Given the description of an element on the screen output the (x, y) to click on. 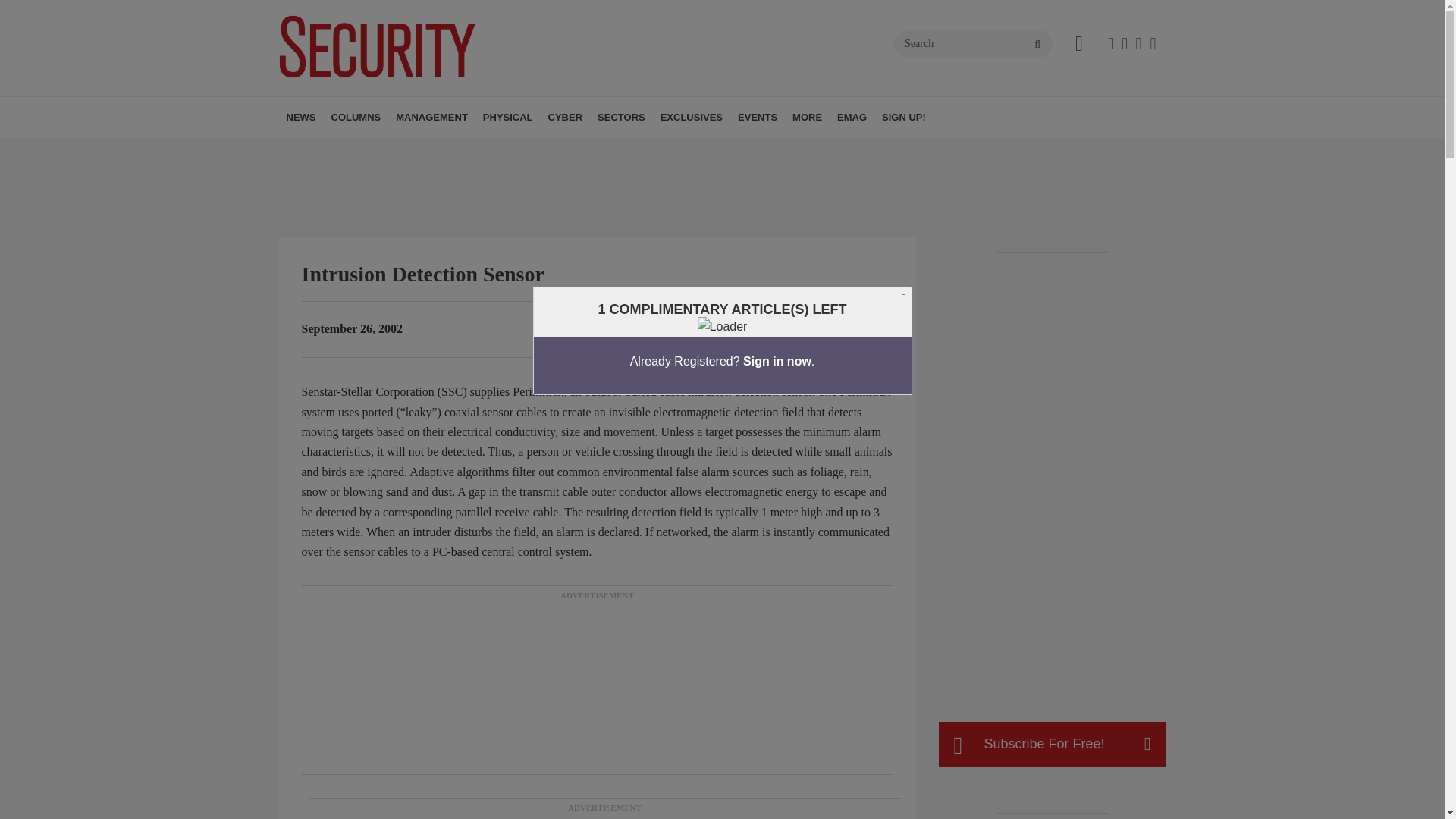
CAREER INTELLIGENCE (436, 150)
LEADERSHIP MANAGEMENT (483, 150)
SECURITY NEWSWIRE (373, 150)
ACCESS MANAGEMENT (570, 150)
CYBERSECURITY NEWS (635, 150)
search (1037, 44)
MORE (589, 150)
PHYSICAL (508, 117)
SECURITY BLOG (386, 150)
ENTERPRISE SERVICES (490, 150)
